Given the description of an element on the screen output the (x, y) to click on. 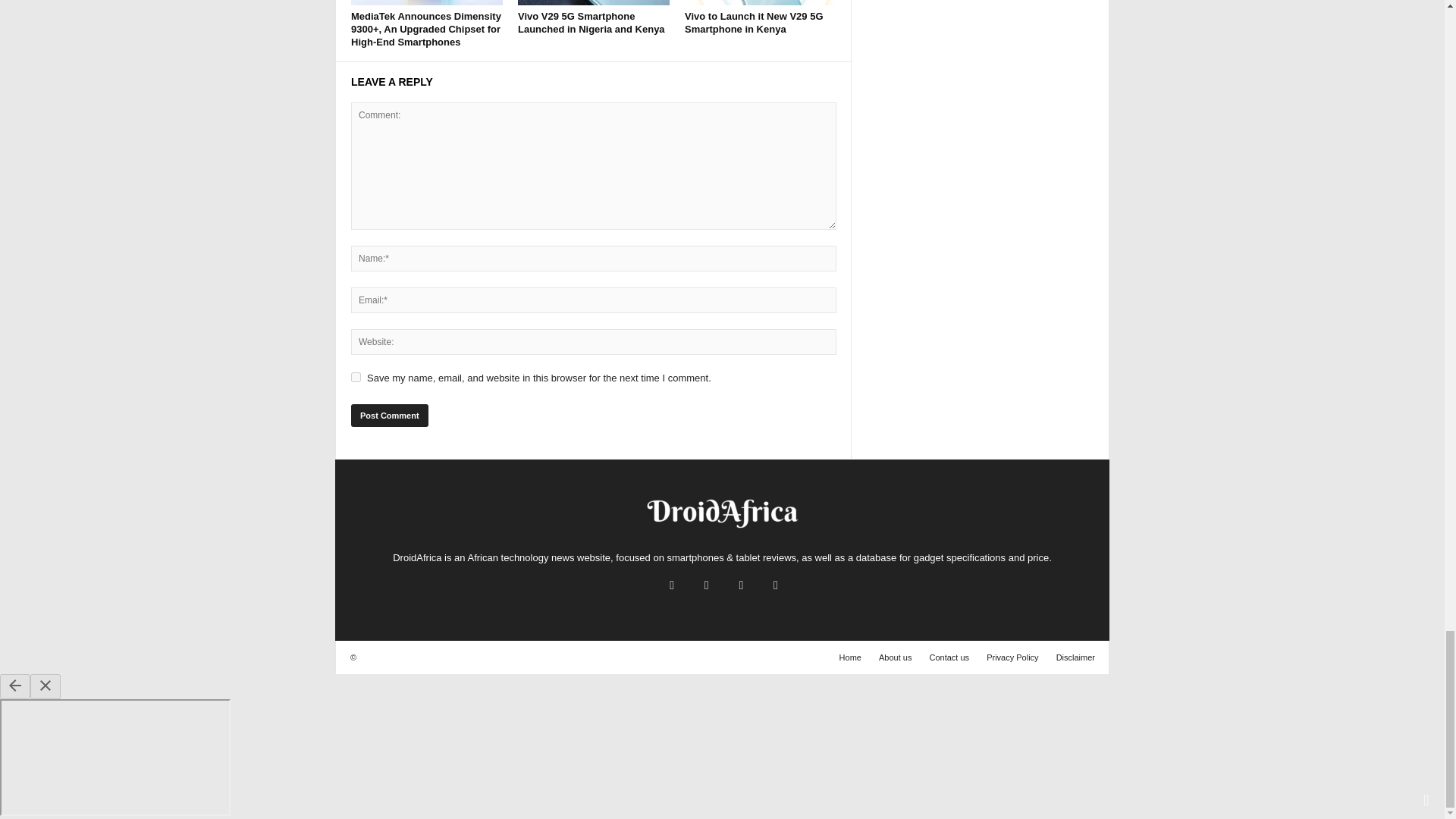
Post Comment (389, 415)
yes (355, 377)
